Given the description of an element on the screen output the (x, y) to click on. 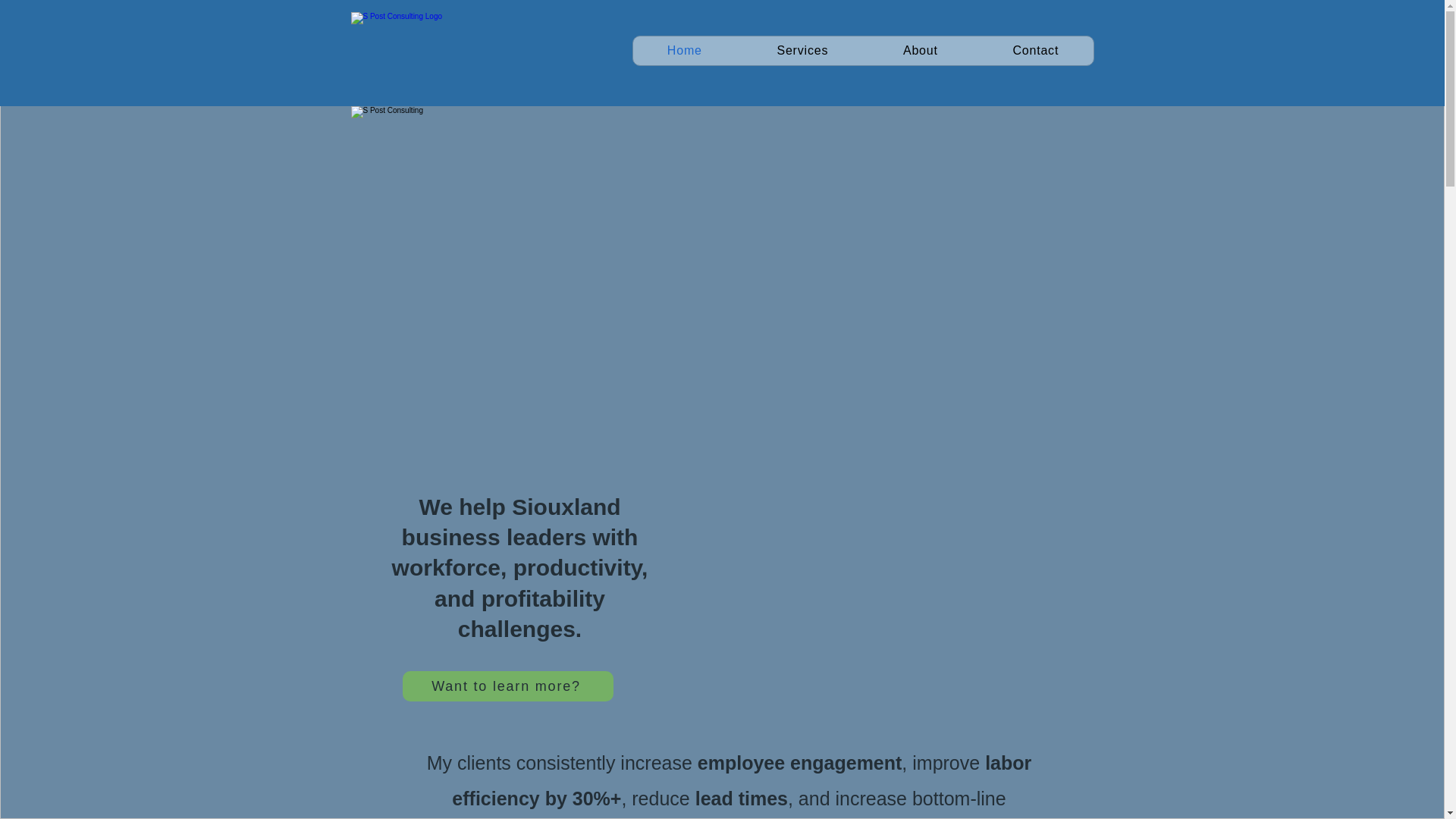
Services (801, 50)
Home (683, 50)
About (920, 50)
Contact (1035, 50)
Want to learn more? (506, 685)
